Given the description of an element on the screen output the (x, y) to click on. 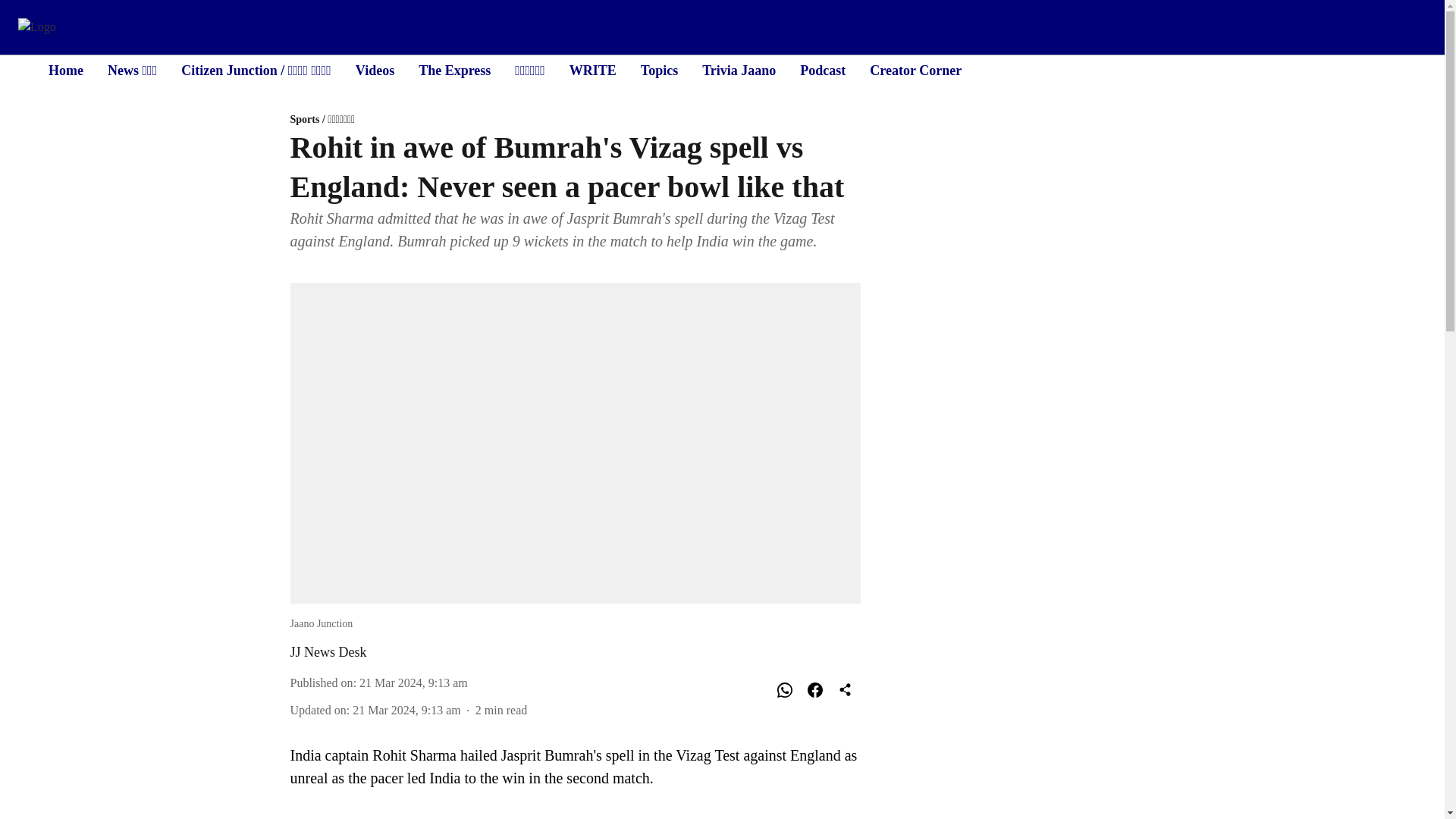
Home (65, 70)
JJ News Desk (327, 652)
WRITE (592, 70)
Videos (374, 70)
The Express (454, 70)
Podcast (822, 70)
Creator Corner (914, 70)
Trivia Jaano (738, 70)
